Given the description of an element on the screen output the (x, y) to click on. 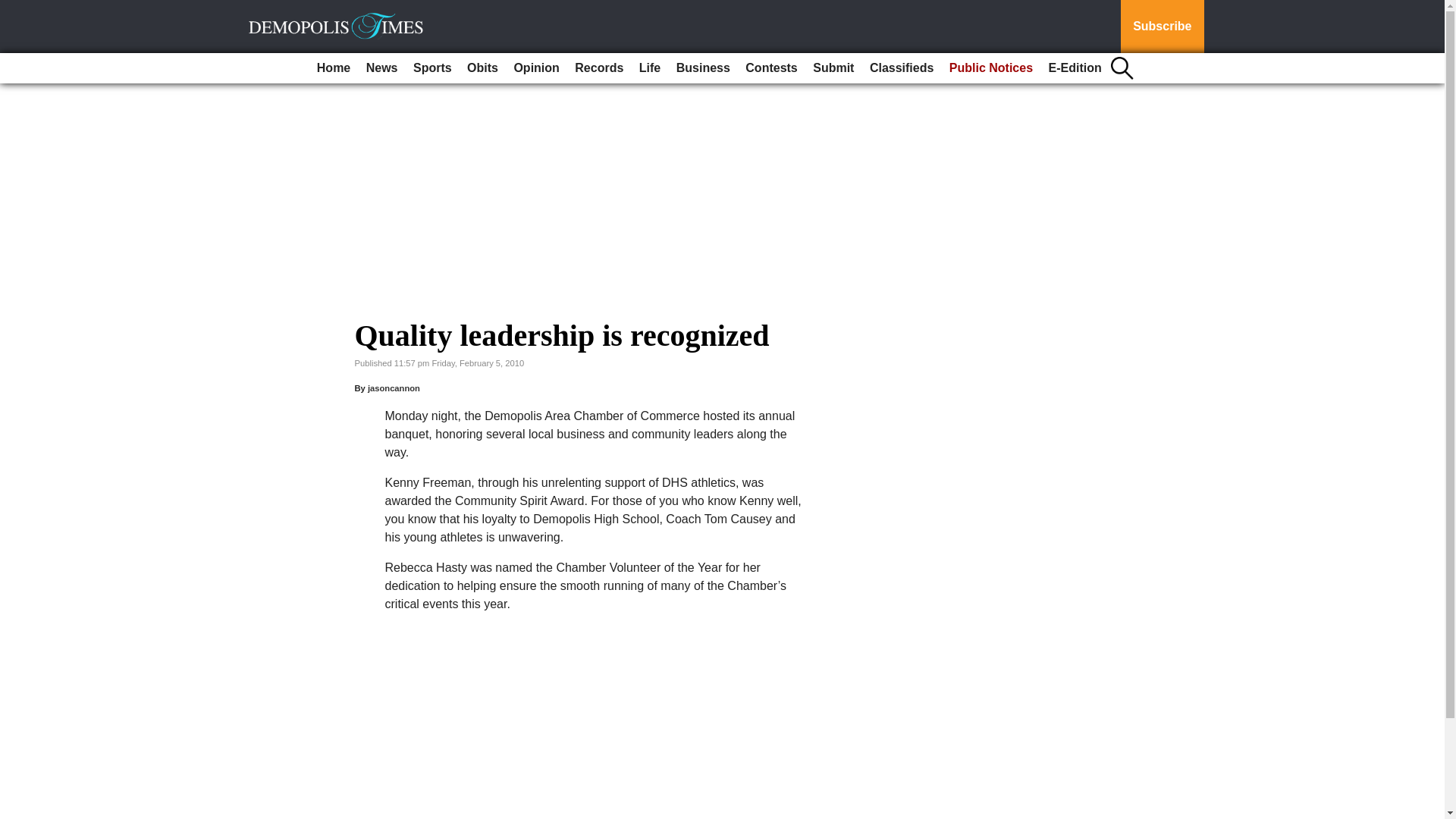
Life (649, 68)
Public Notices (991, 68)
Obits (482, 68)
Classifieds (901, 68)
Contests (771, 68)
Submit (833, 68)
Records (598, 68)
E-Edition (1075, 68)
Subscribe (1162, 26)
Sports (432, 68)
